Given the description of an element on the screen output the (x, y) to click on. 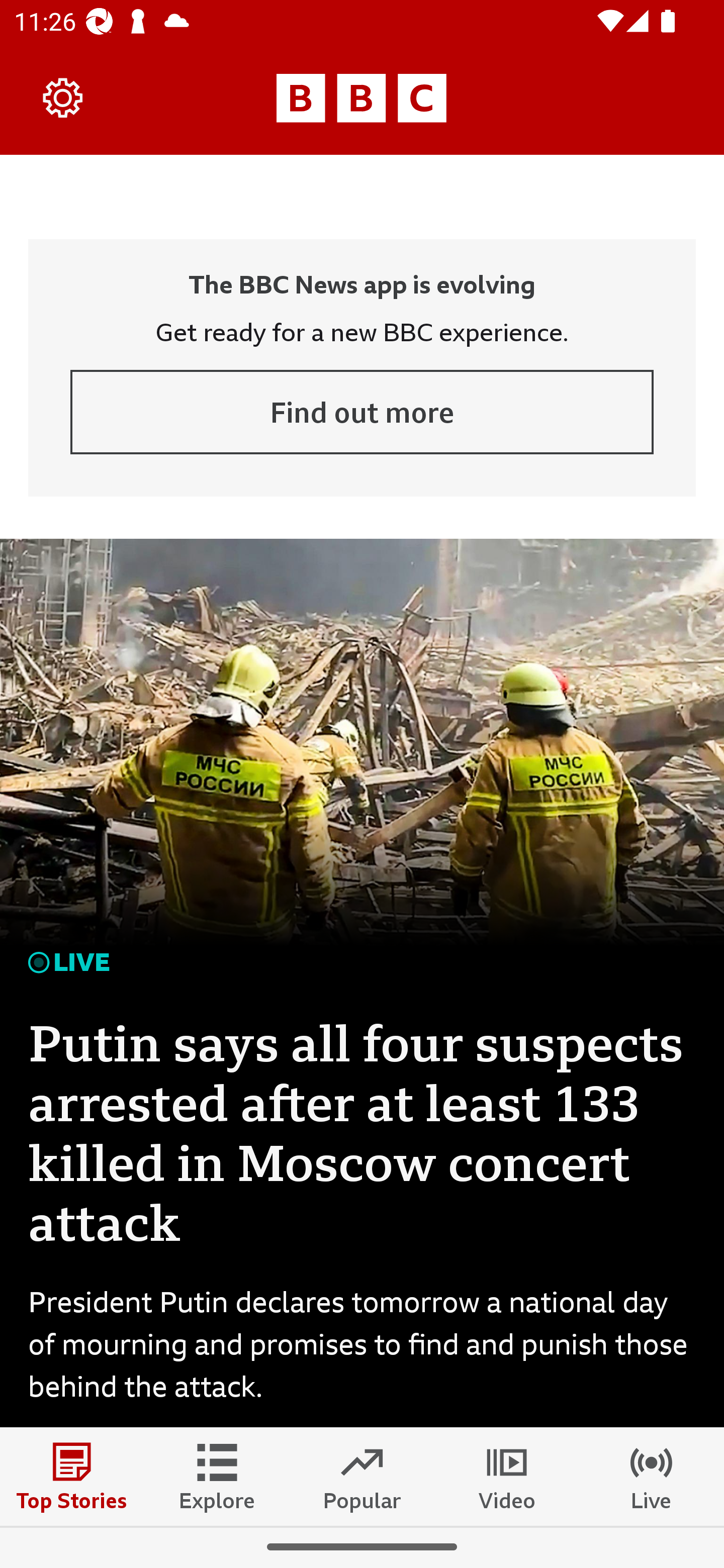
Settings (63, 97)
Find out more (361, 412)
Explore (216, 1475)
Popular (361, 1475)
Video (506, 1475)
Live (651, 1475)
